Given the description of an element on the screen output the (x, y) to click on. 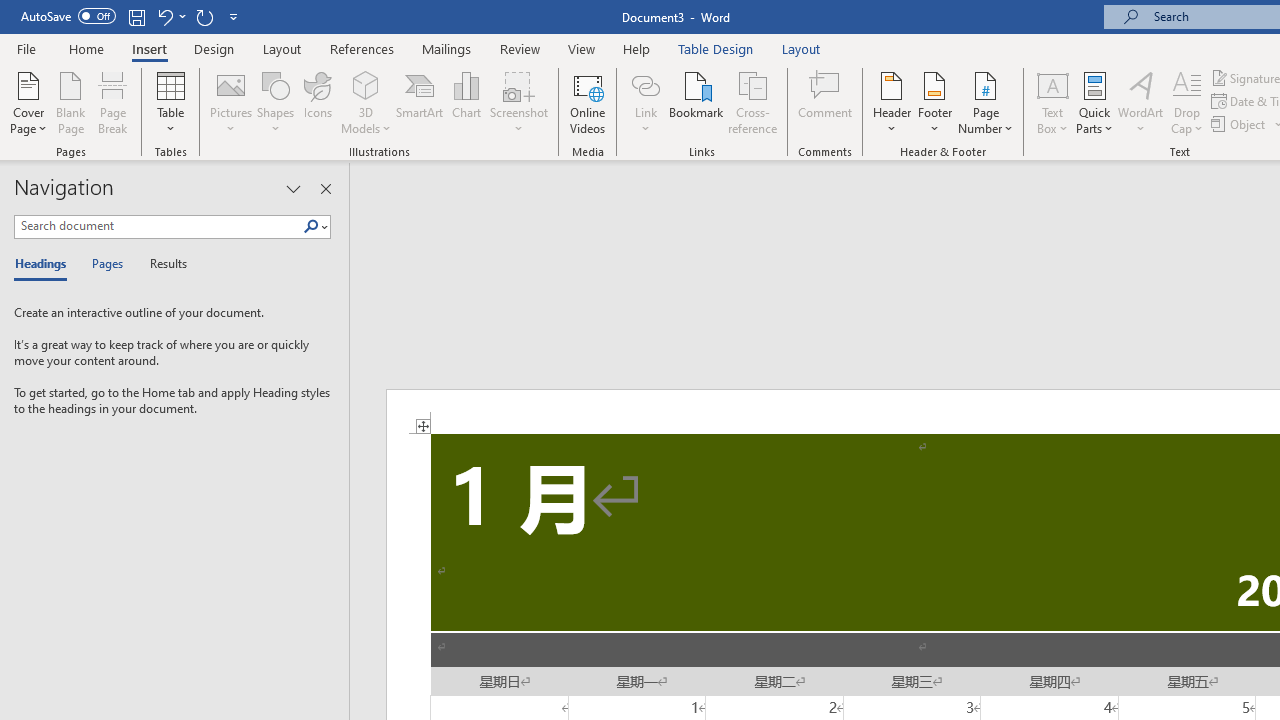
AutoSave (68, 16)
Design (214, 48)
Page Number (986, 102)
Pages (105, 264)
Page Break (113, 102)
Cross-reference... (752, 102)
Text Box (1052, 102)
Headings (45, 264)
Customize Quick Access Toolbar (234, 15)
Bookmark... (695, 102)
WordArt (1141, 102)
Link (645, 102)
